Given the description of an element on the screen output the (x, y) to click on. 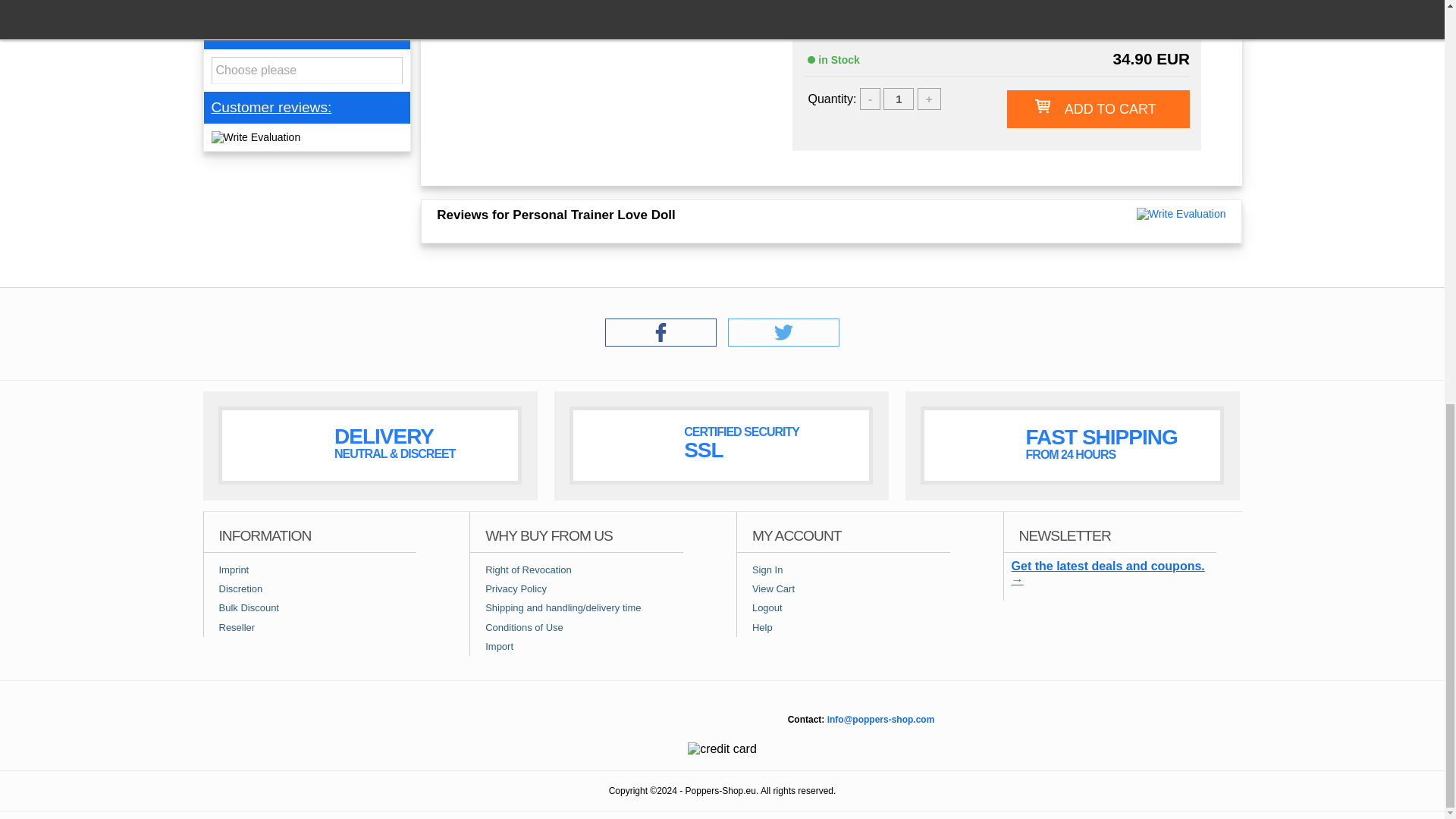
Facebook (660, 341)
 Write Evaluation  (255, 137)
Twitter (784, 341)
 Write Evaluation  (1181, 214)
credit card (722, 748)
1 (898, 98)
